Given the description of an element on the screen output the (x, y) to click on. 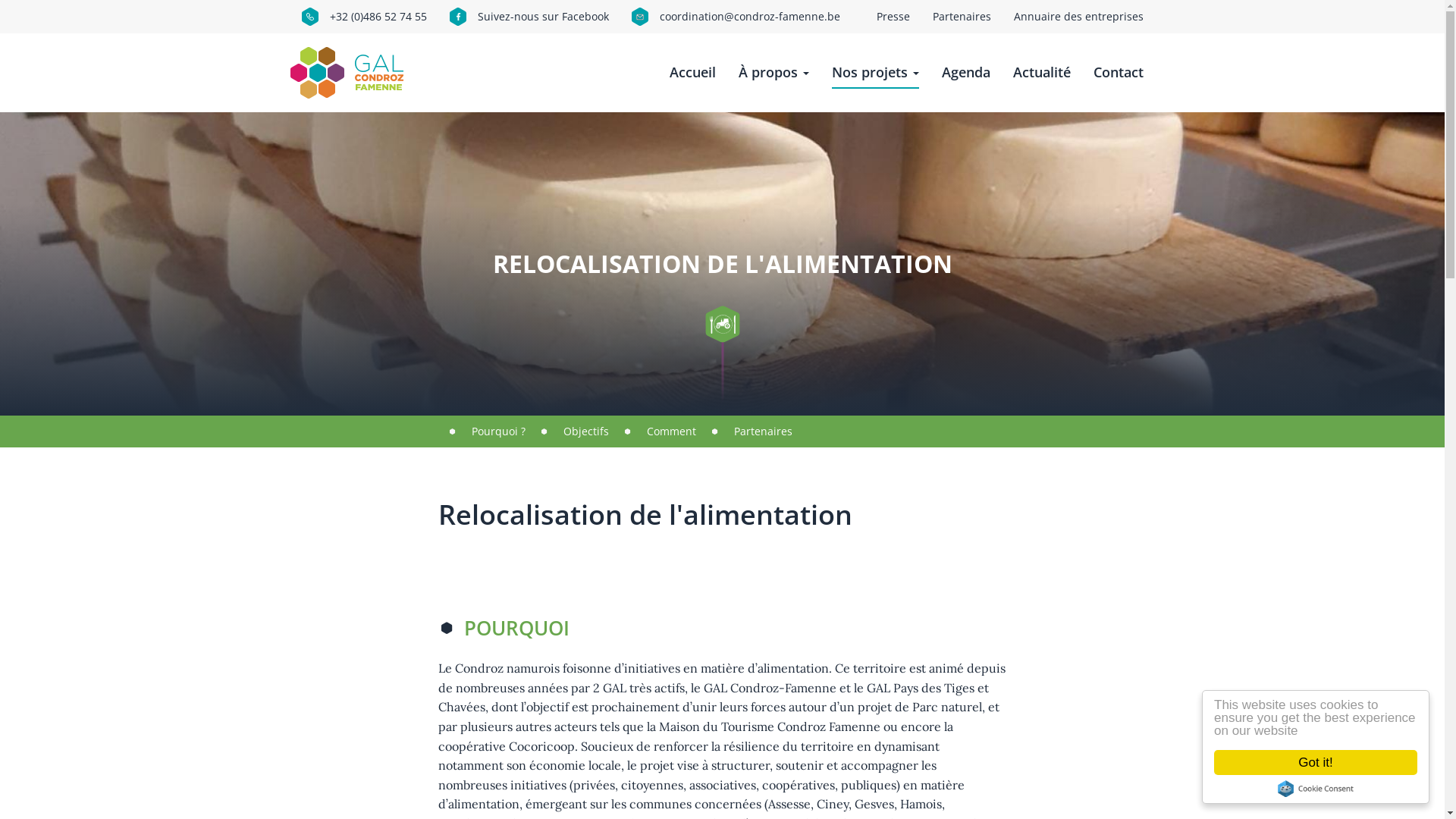
Objectifs Element type: text (585, 431)
Cookie Consent plugin for the EU cookie law Element type: text (1315, 788)
Accueil Element type: hover (351, 72)
Agenda Element type: text (965, 72)
Partenaires Element type: text (960, 16)
Got it! Element type: text (1315, 762)
Nos projets Element type: text (874, 72)
Annuaire des entreprises Element type: text (1078, 16)
+32 (0)486 52 74 55 Element type: text (363, 16)
Accueil Element type: text (691, 72)
Suivez-nous sur Facebook Element type: text (529, 16)
Aller au contenu principal Element type: text (0, 0)
Pourquoi ? Element type: text (498, 431)
Contact Element type: text (1118, 72)
Partenaires Element type: text (763, 431)
Comment Element type: text (670, 431)
coordination@condroz-famenne.be Element type: text (735, 16)
Presse Element type: text (892, 16)
